Given the description of an element on the screen output the (x, y) to click on. 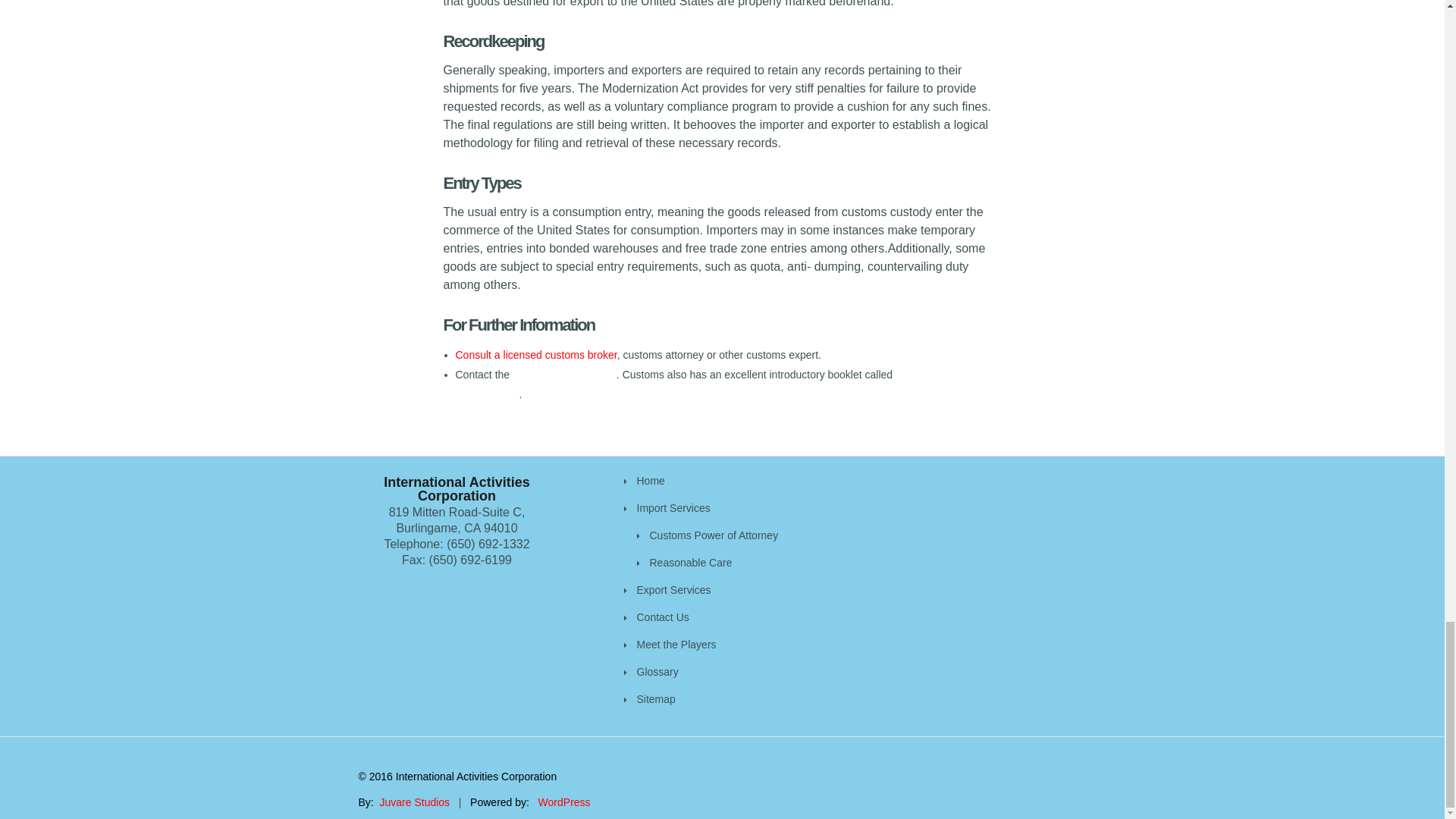
U.S. Customs Service (563, 374)
Sitemap (656, 698)
Reasonable Care (690, 562)
Glossary (657, 671)
Importing Into The United States (717, 384)
Websites for Entrepreneurs (414, 802)
Home (651, 480)
Contact Us (662, 616)
Powered by:   WordPress (529, 802)
Customs Power of Attorney (713, 535)
Export Services (674, 589)
Import Services (673, 508)
 Juvare Studios (414, 802)
Meet the Players (676, 644)
